Given the description of an element on the screen output the (x, y) to click on. 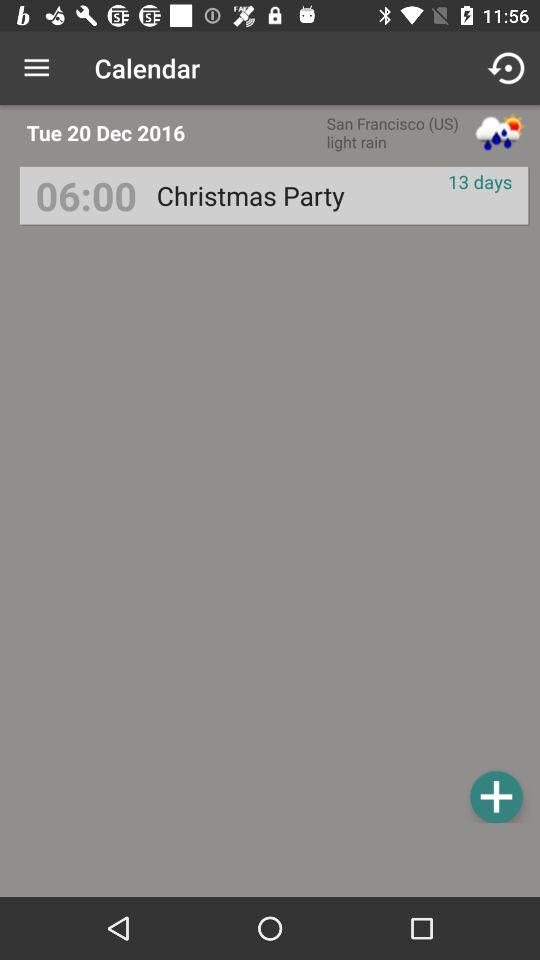
turn off item to the left of the 13 days item (250, 195)
